Given the description of an element on the screen output the (x, y) to click on. 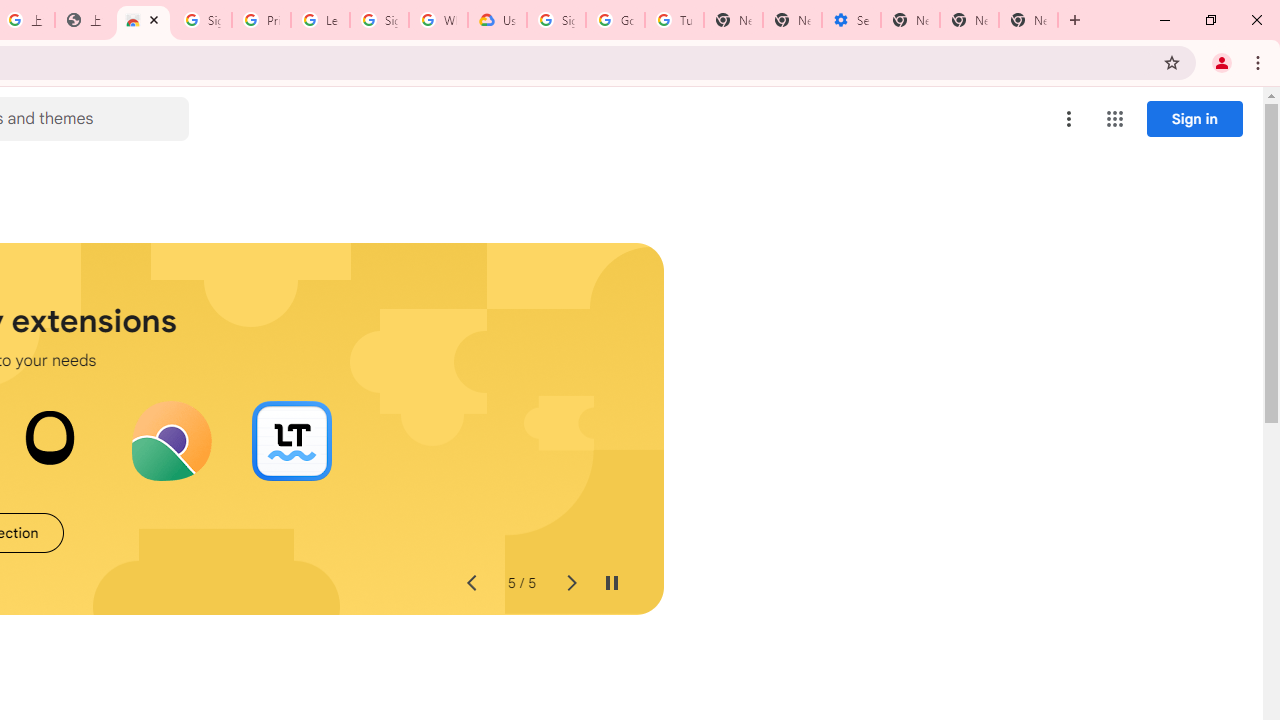
Google apps (1114, 118)
Sign in - Google Accounts (379, 20)
Restore (1210, 20)
Sign in - Google Accounts (201, 20)
Who are Google's partners? - Privacy and conditions - Google (438, 20)
Sign in - Google Accounts (556, 20)
Turn cookies on or off - Computer - Google Account Help (674, 20)
Previous slide (470, 583)
New Tab (1075, 20)
New Tab (1028, 20)
Minimize (1165, 20)
Chrome Web Store (142, 20)
